Given the description of an element on the screen output the (x, y) to click on. 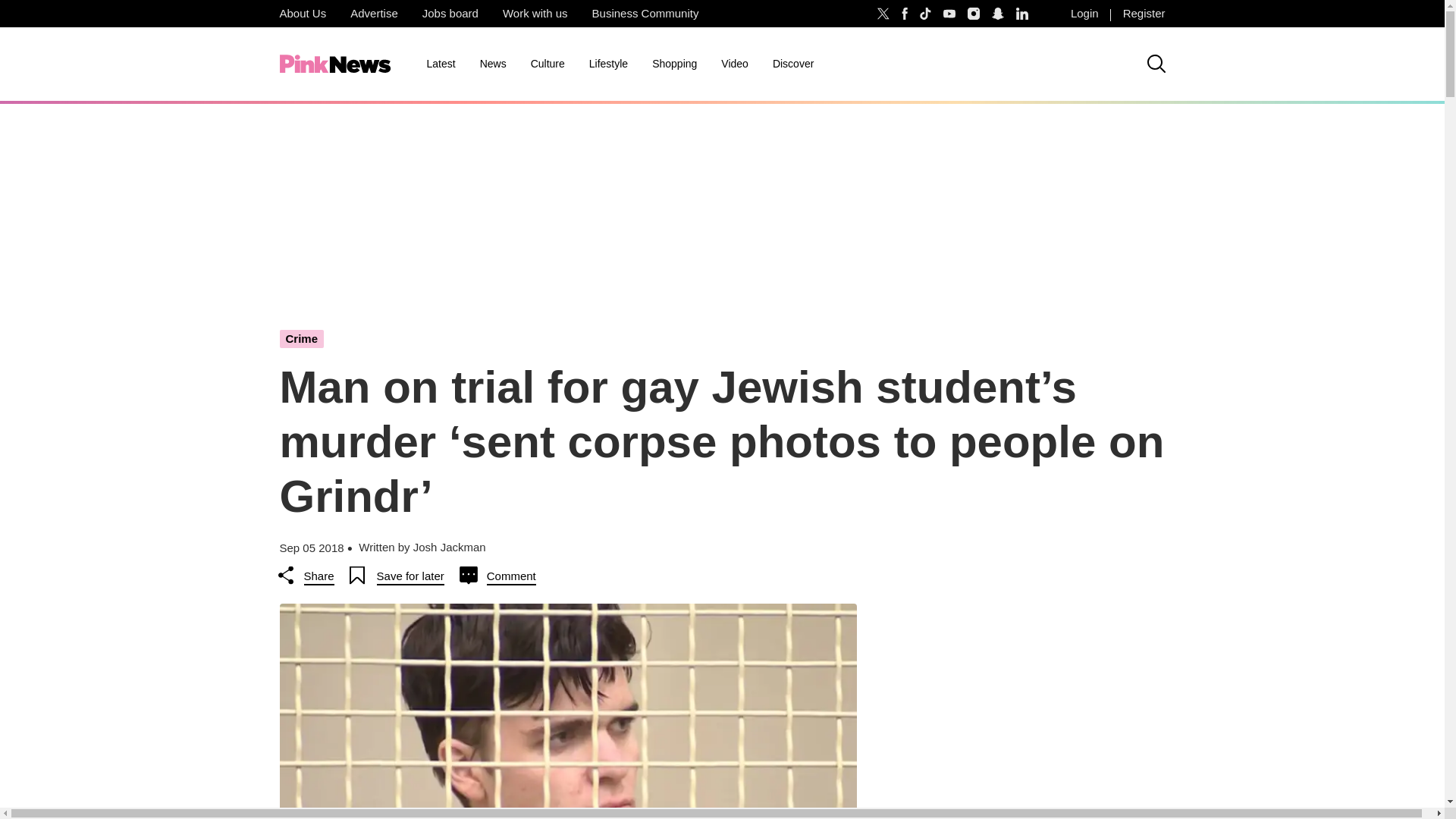
Latest (440, 63)
About Us (301, 13)
Register (1143, 13)
Advertise (373, 13)
Follow PinkNews on LinkedIn (1021, 13)
Culture (547, 63)
Business Community (645, 13)
Lifestyle (608, 63)
Work with us (534, 13)
Login (1084, 13)
